Given the description of an element on the screen output the (x, y) to click on. 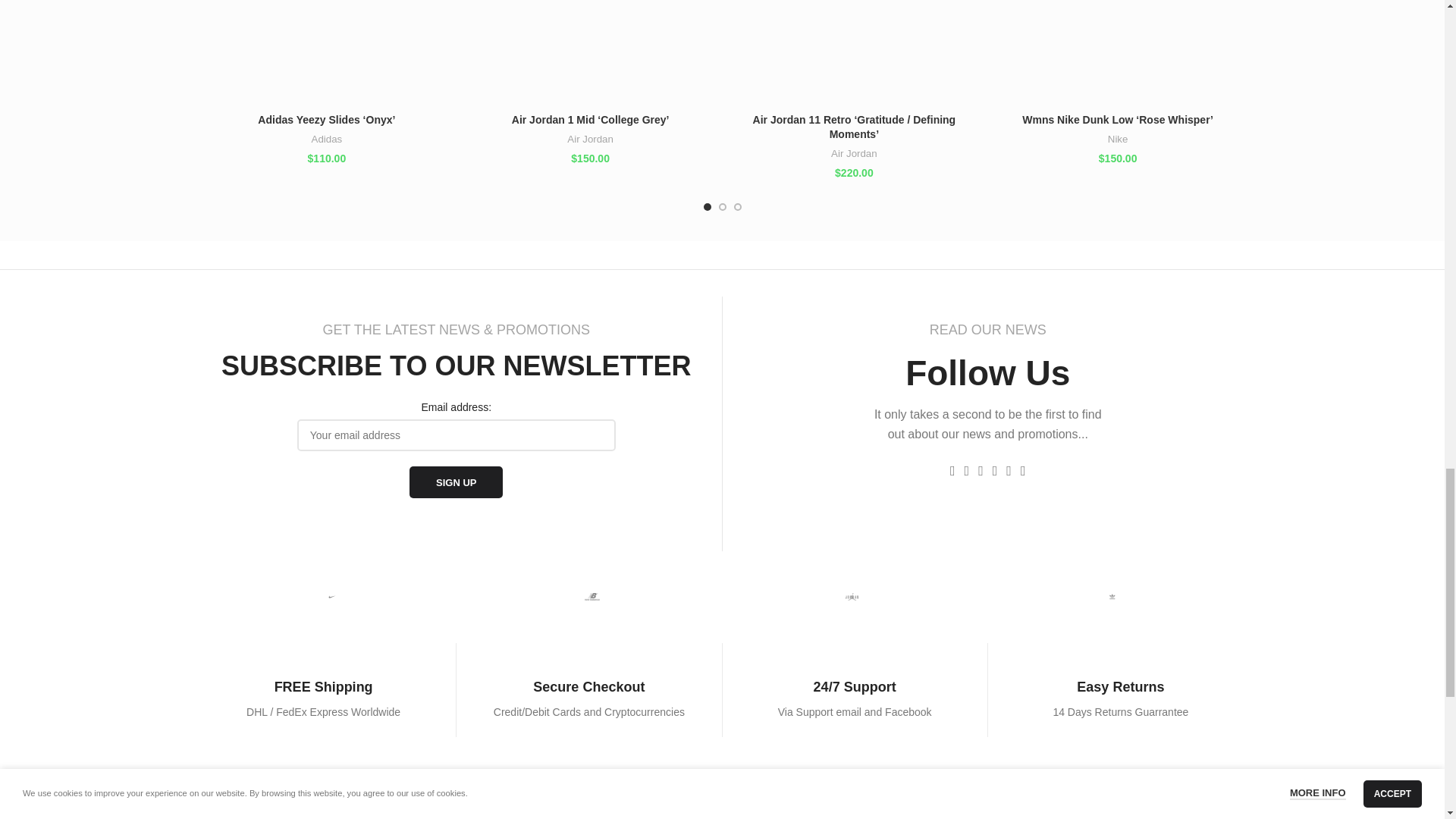
Sign up (455, 481)
